Given the description of an element on the screen output the (x, y) to click on. 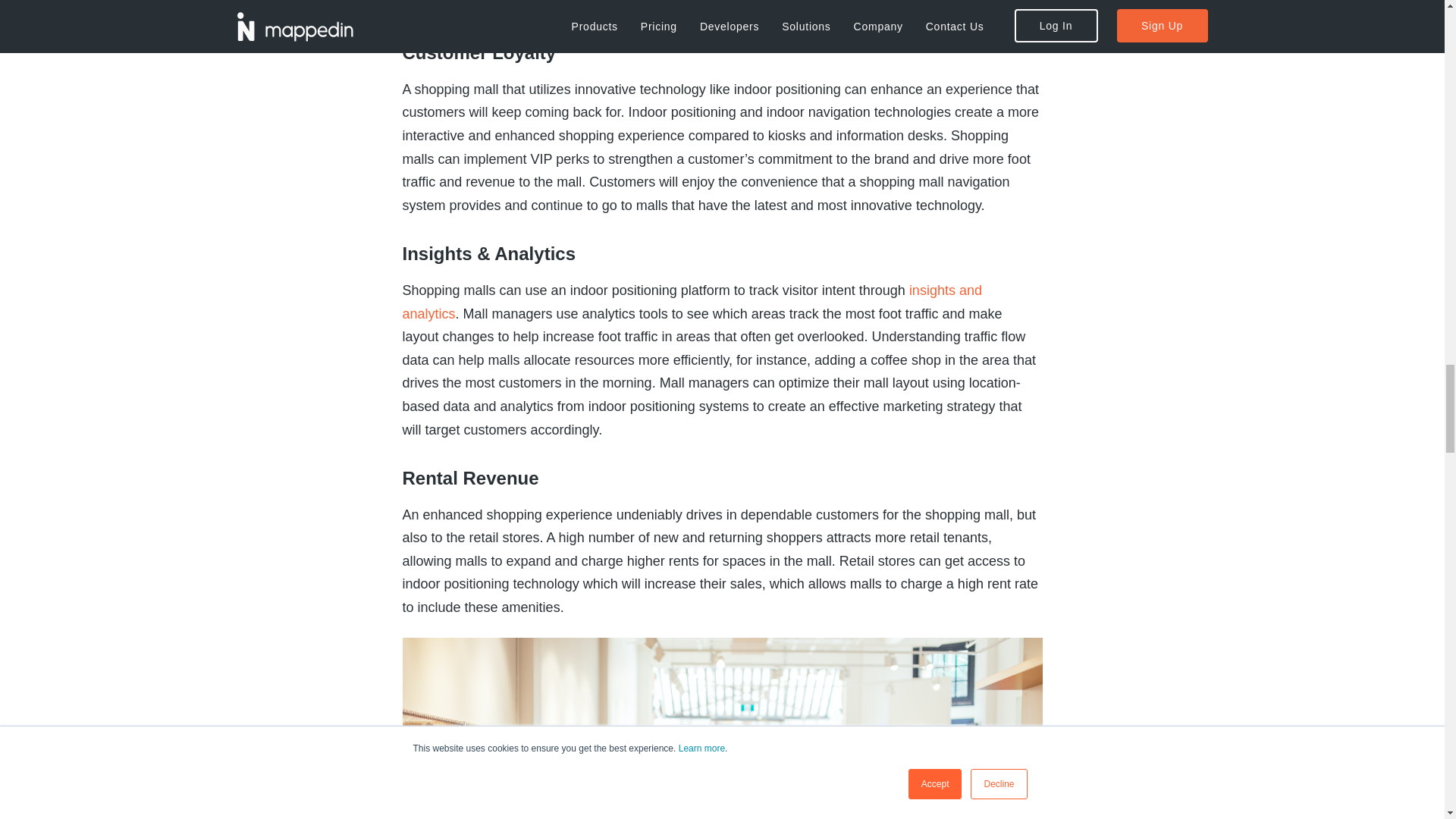
insights and analytics (691, 301)
